Given the description of an element on the screen output the (x, y) to click on. 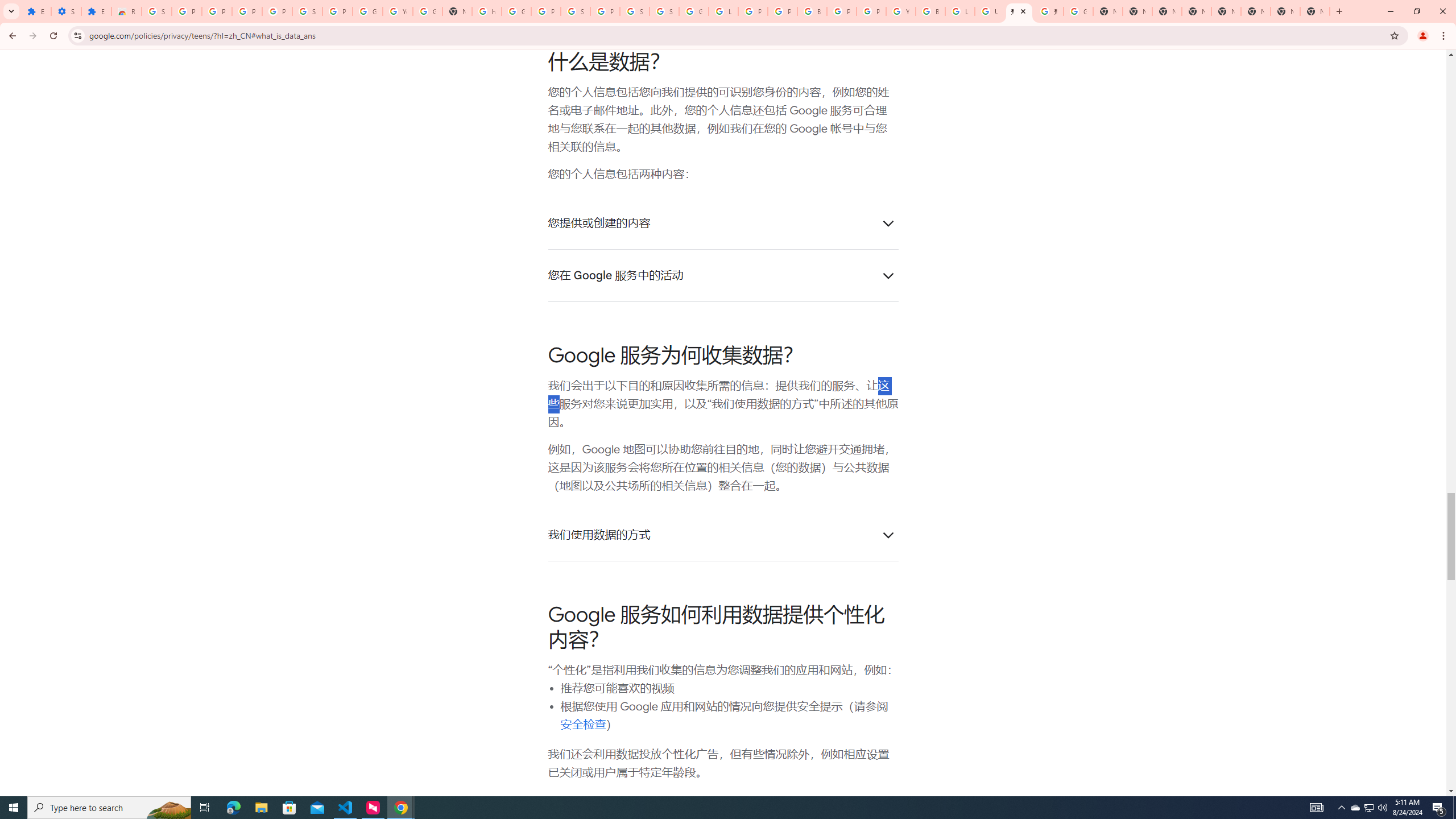
Privacy Help Center - Policies Help (753, 11)
Google Images (1077, 11)
YouTube (900, 11)
